Given the description of an element on the screen output the (x, y) to click on. 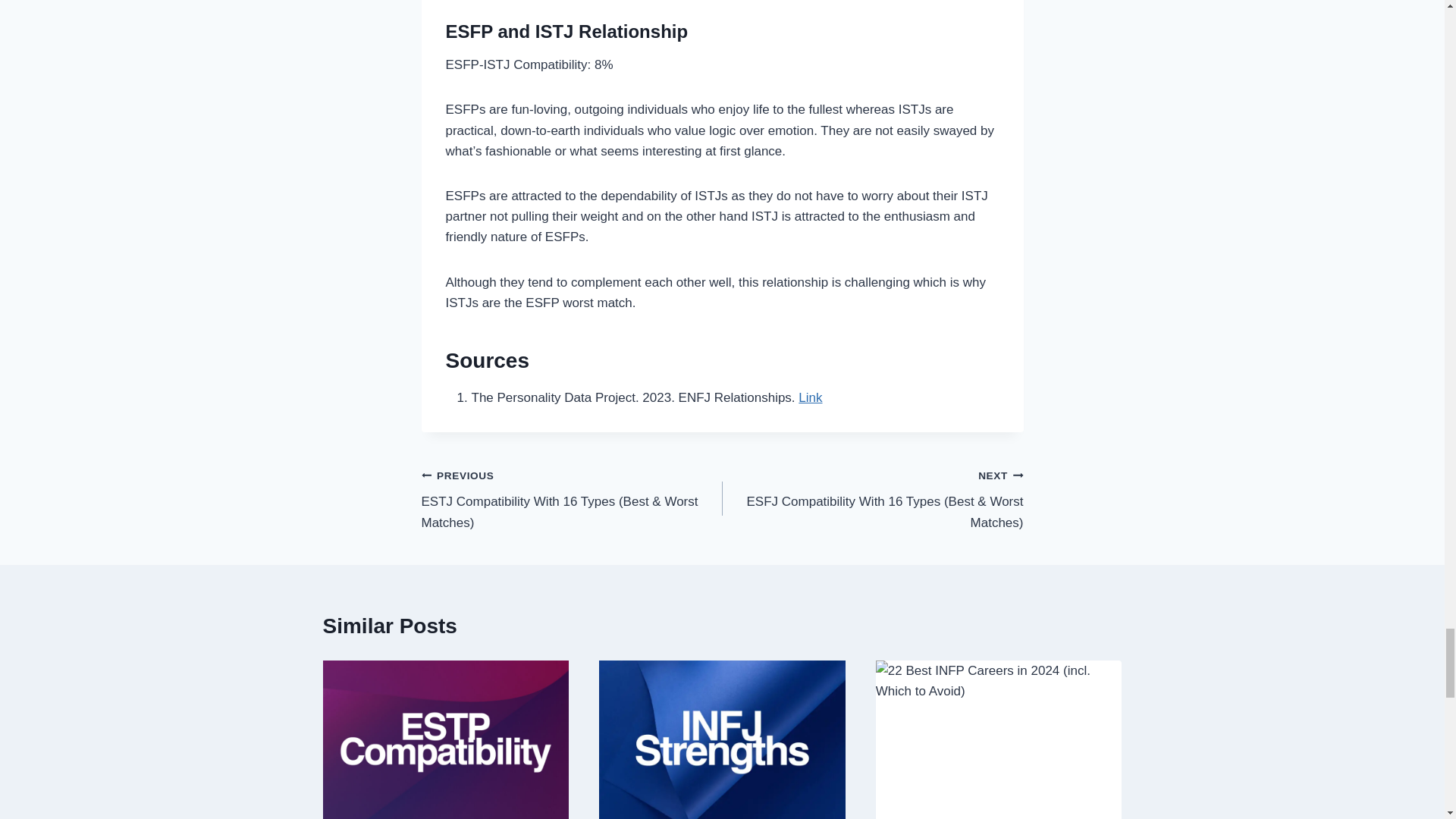
Link (809, 397)
